Given the description of an element on the screen output the (x, y) to click on. 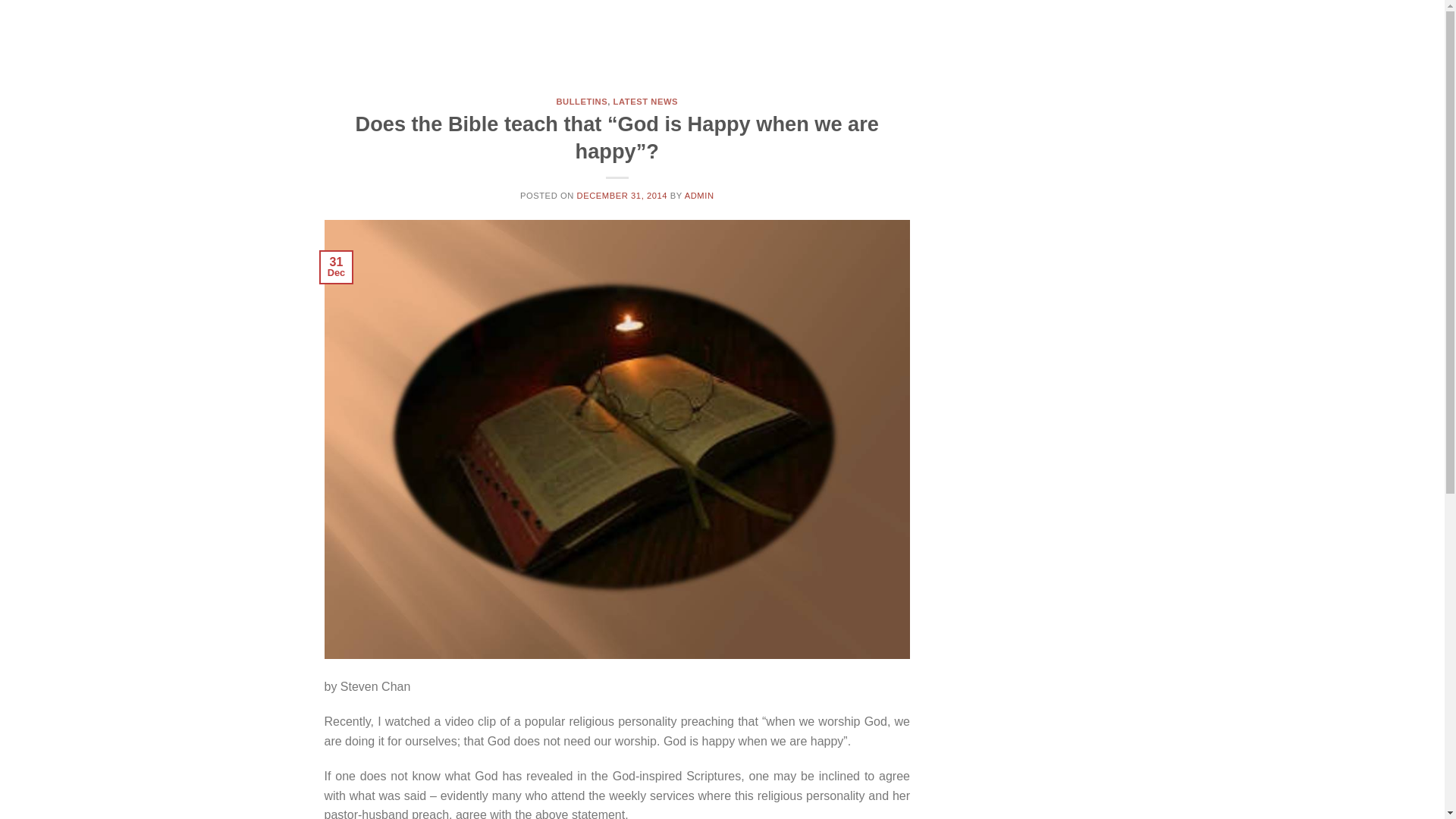
About Us (886, 37)
Events (1308, 37)
Contact Us (1229, 37)
Personal Study (1127, 37)
DECEMBER 31, 2014 (622, 194)
LATEST NEWS (645, 101)
ADMIN (699, 194)
Home (819, 37)
Beliefs (960, 37)
